Given the description of an element on the screen output the (x, y) to click on. 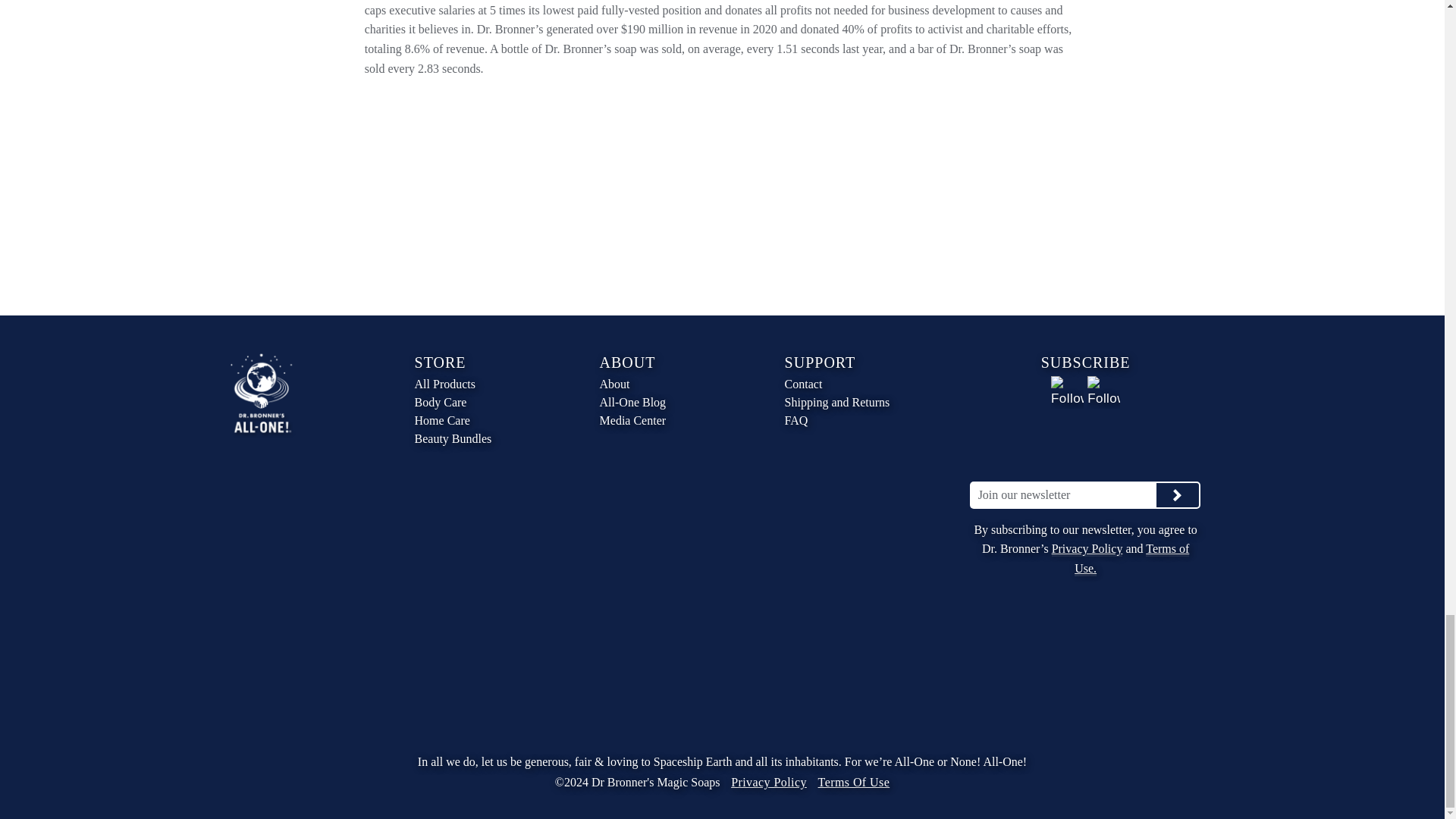
Media Center (667, 420)
Dr. Bronner's Ireland on Instagram (1103, 391)
Beauty Bundles (482, 438)
About (667, 384)
Body Care (482, 402)
All-One Blog (667, 402)
Dr. Bronner's Ireland on Facebook (1067, 391)
Home Care (482, 420)
All Products (482, 384)
